Given the description of an element on the screen output the (x, y) to click on. 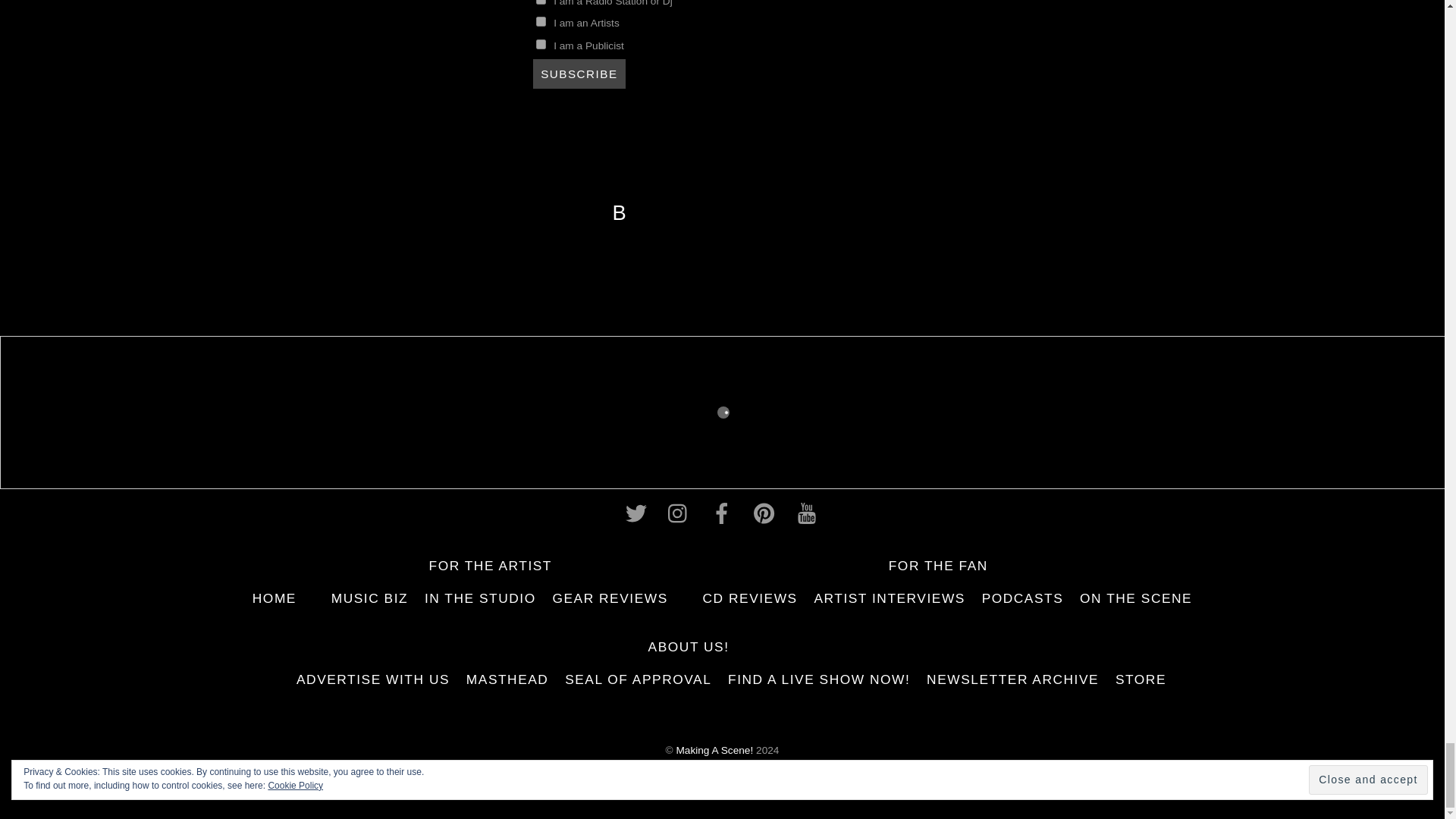
10 (539, 44)
Subscribe (579, 72)
3 (539, 2)
9 (539, 21)
